Given the description of an element on the screen output the (x, y) to click on. 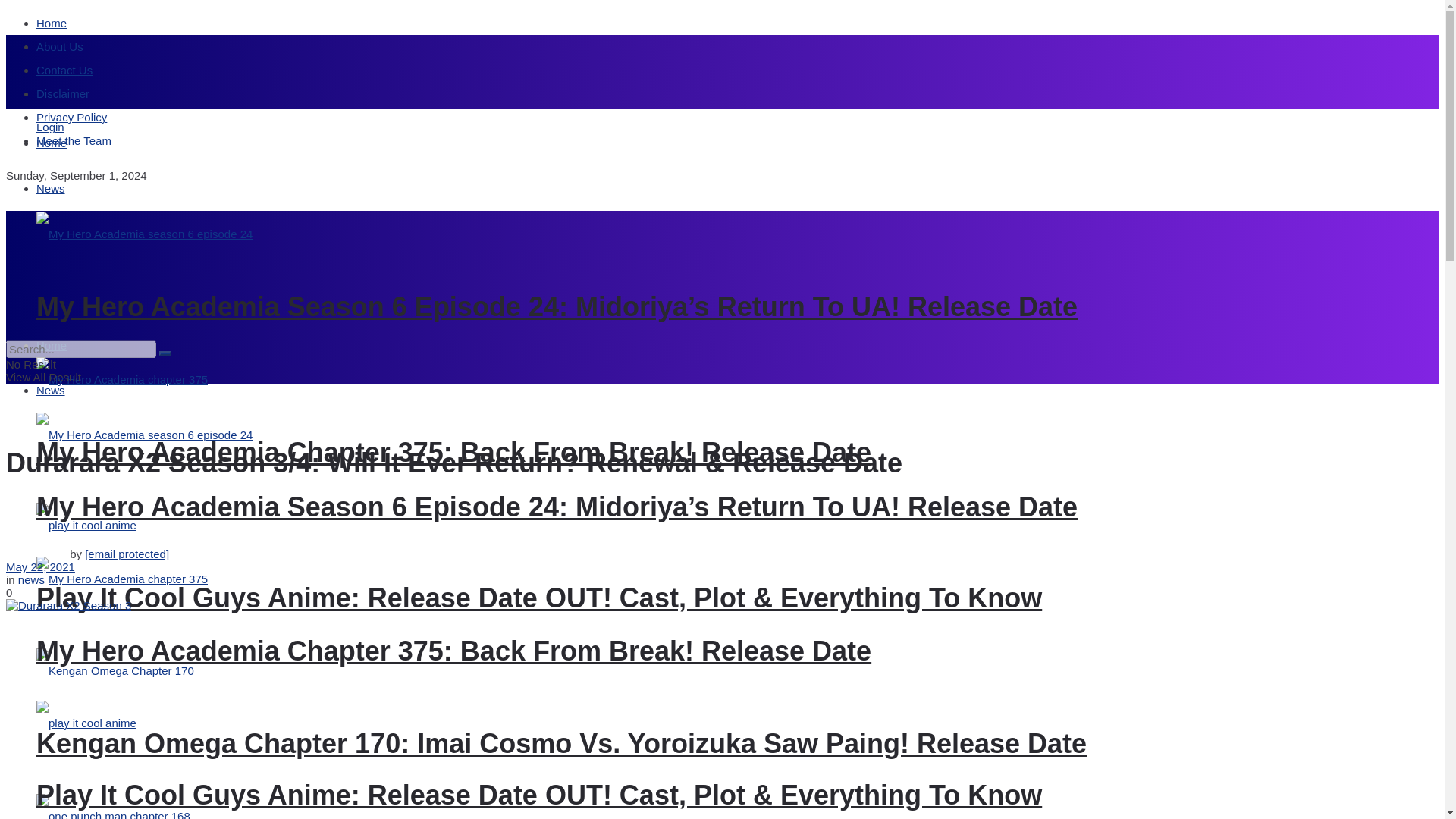
News (50, 187)
Login (50, 126)
Disclaimer (62, 92)
About Us (59, 46)
My Hero Academia Chapter 375: Back From Break! Release Date (453, 451)
Home (51, 22)
Home (51, 142)
Meet the Team (74, 140)
Contact Us (64, 69)
